Given the description of an element on the screen output the (x, y) to click on. 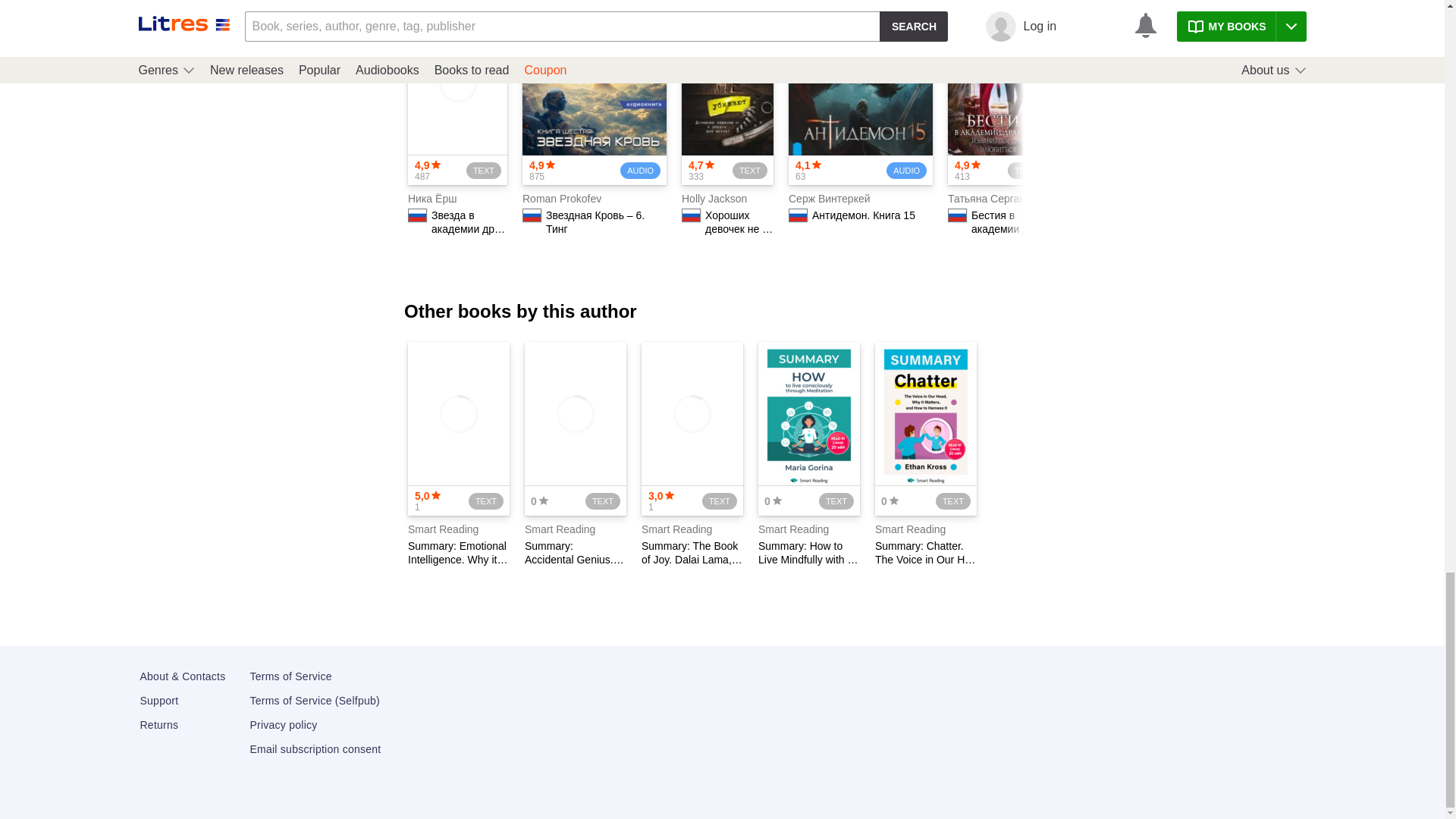
Book in  language (418, 215)
Rating: 4,9 (537, 170)
Text (485, 170)
Roman Prokofev (560, 198)
Rating: 4,9 (424, 170)
